Given the description of an element on the screen output the (x, y) to click on. 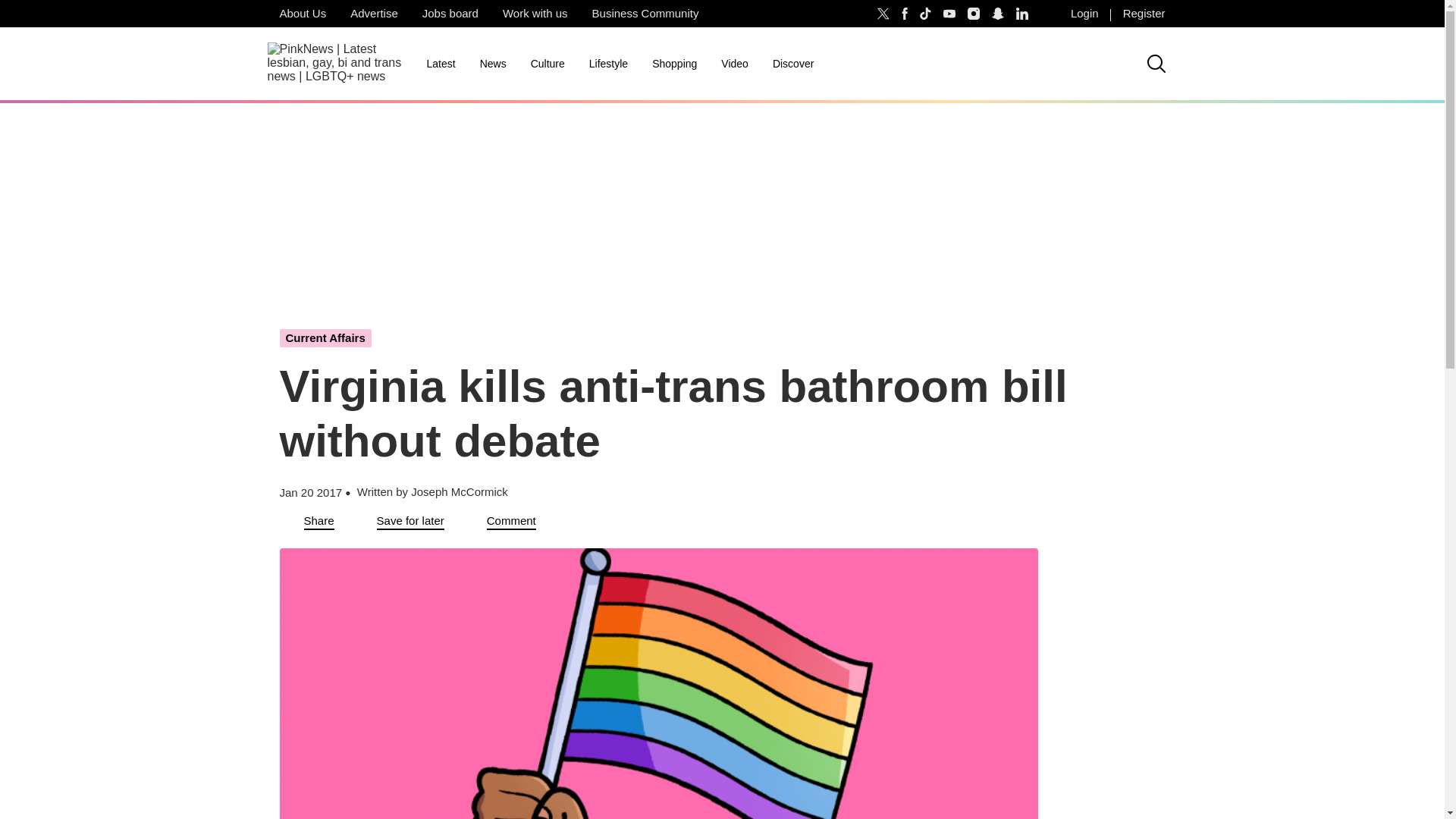
Jobs board (450, 13)
Login (1084, 13)
Follow PinkNews on LinkedIn (1021, 13)
Lifestyle (608, 63)
Culture (547, 63)
About Us (301, 13)
Advertise (373, 13)
News (493, 63)
Latest (440, 63)
Work with us (534, 13)
Business Community (645, 13)
Register (1143, 13)
